Given the description of an element on the screen output the (x, y) to click on. 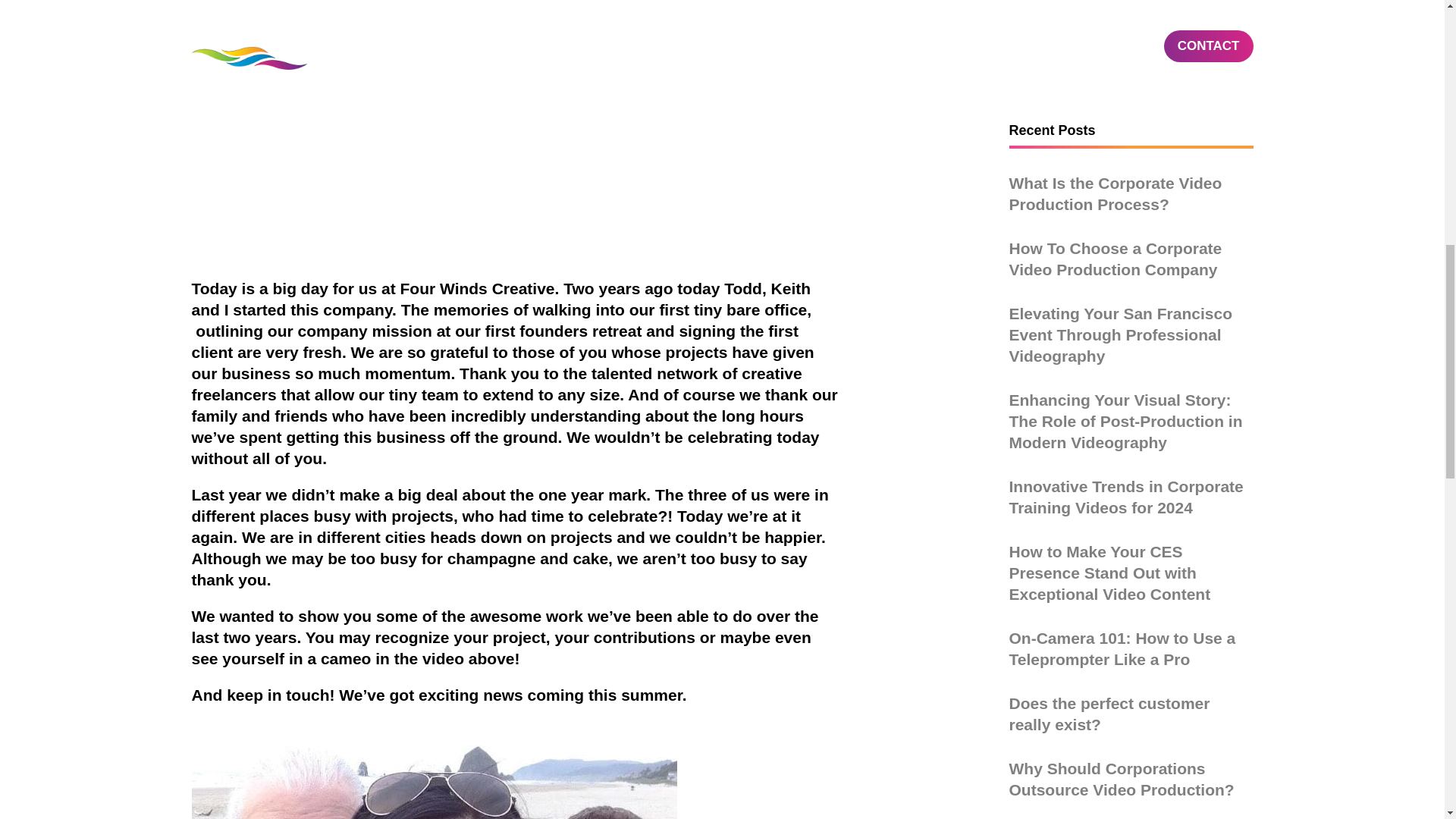
Four Winds Creative (477, 288)
Does the perfect customer really exist? (1109, 304)
On-Camera 101: How to Use a Teleprompter Like a Pro (1121, 239)
keep in touch (278, 694)
Innovative Trends in Corporate Training Videos for 2024 (1126, 87)
Why Should Corporations Outsource Video Production? (1121, 369)
